Given the description of an element on the screen output the (x, y) to click on. 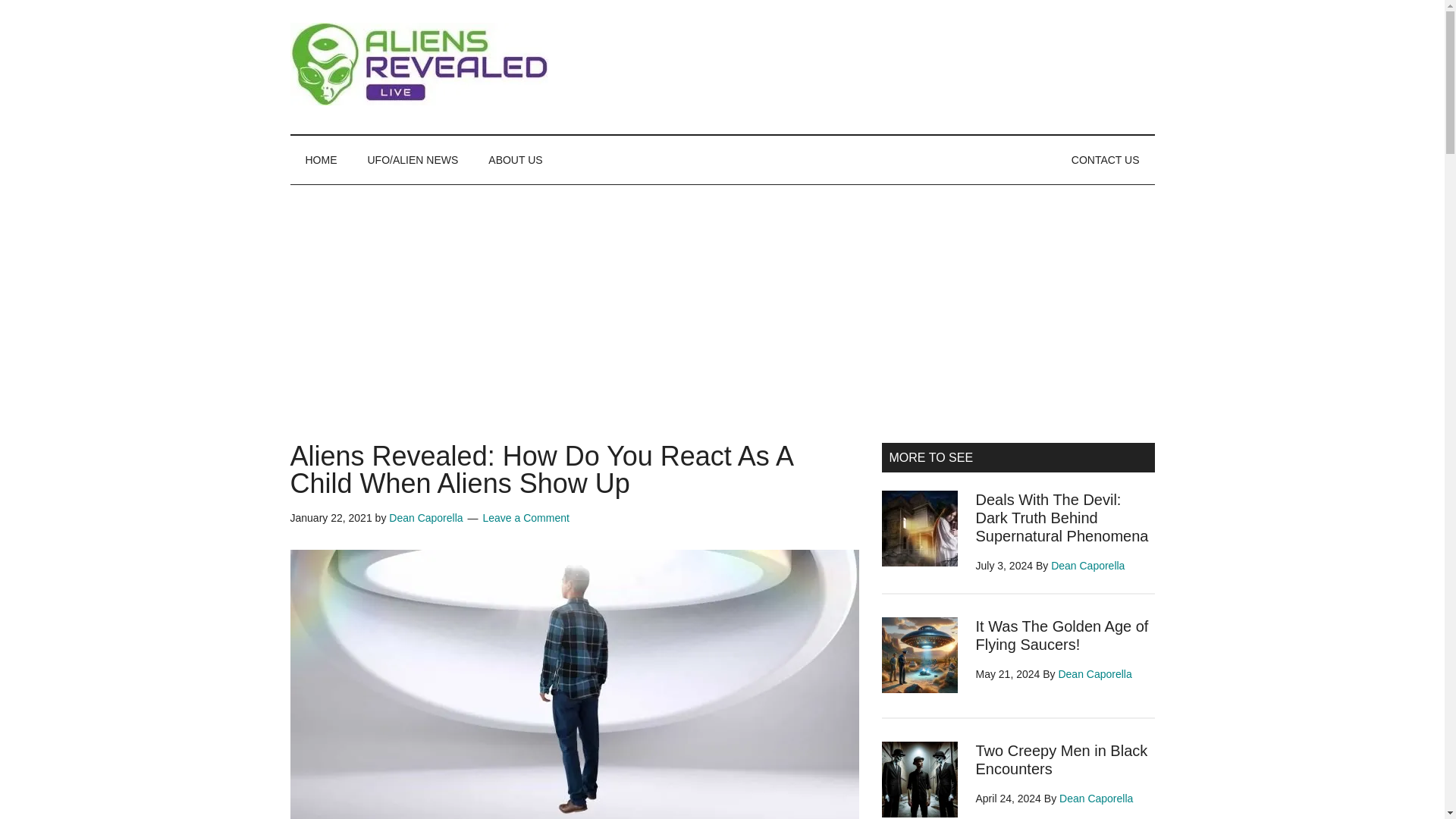
ABOUT US (515, 159)
Dean Caporella (425, 517)
HOME (320, 159)
CONTACT US (1105, 159)
Leave a Comment (525, 517)
